Given the description of an element on the screen output the (x, y) to click on. 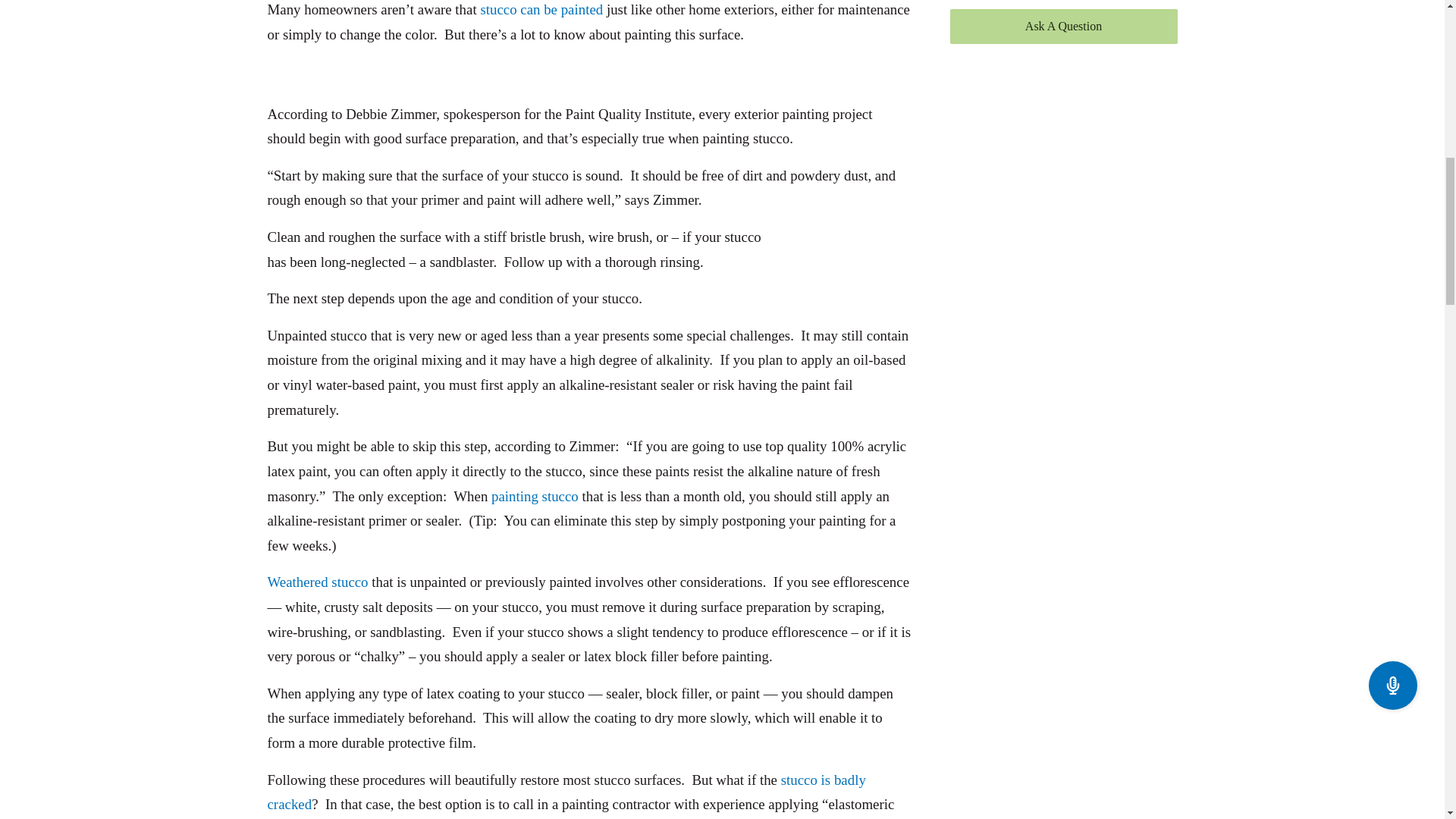
How to Paint Stucco (844, 270)
